Given the description of an element on the screen output the (x, y) to click on. 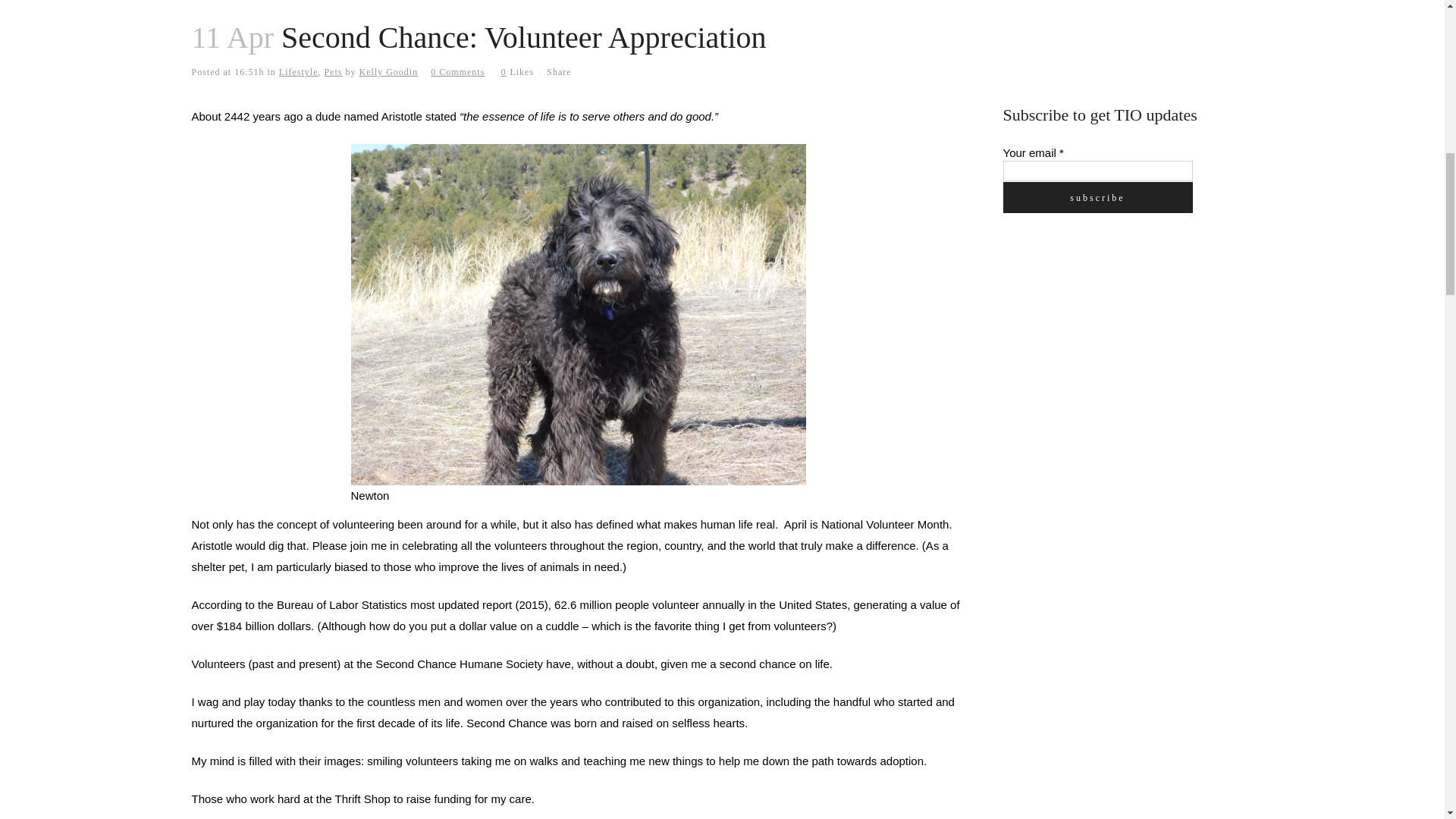
3rd party ad content (1116, 339)
Subscribe (1097, 196)
Like this (517, 71)
3rd party ad content (1116, 35)
Your email (1097, 170)
